Given the description of an element on the screen output the (x, y) to click on. 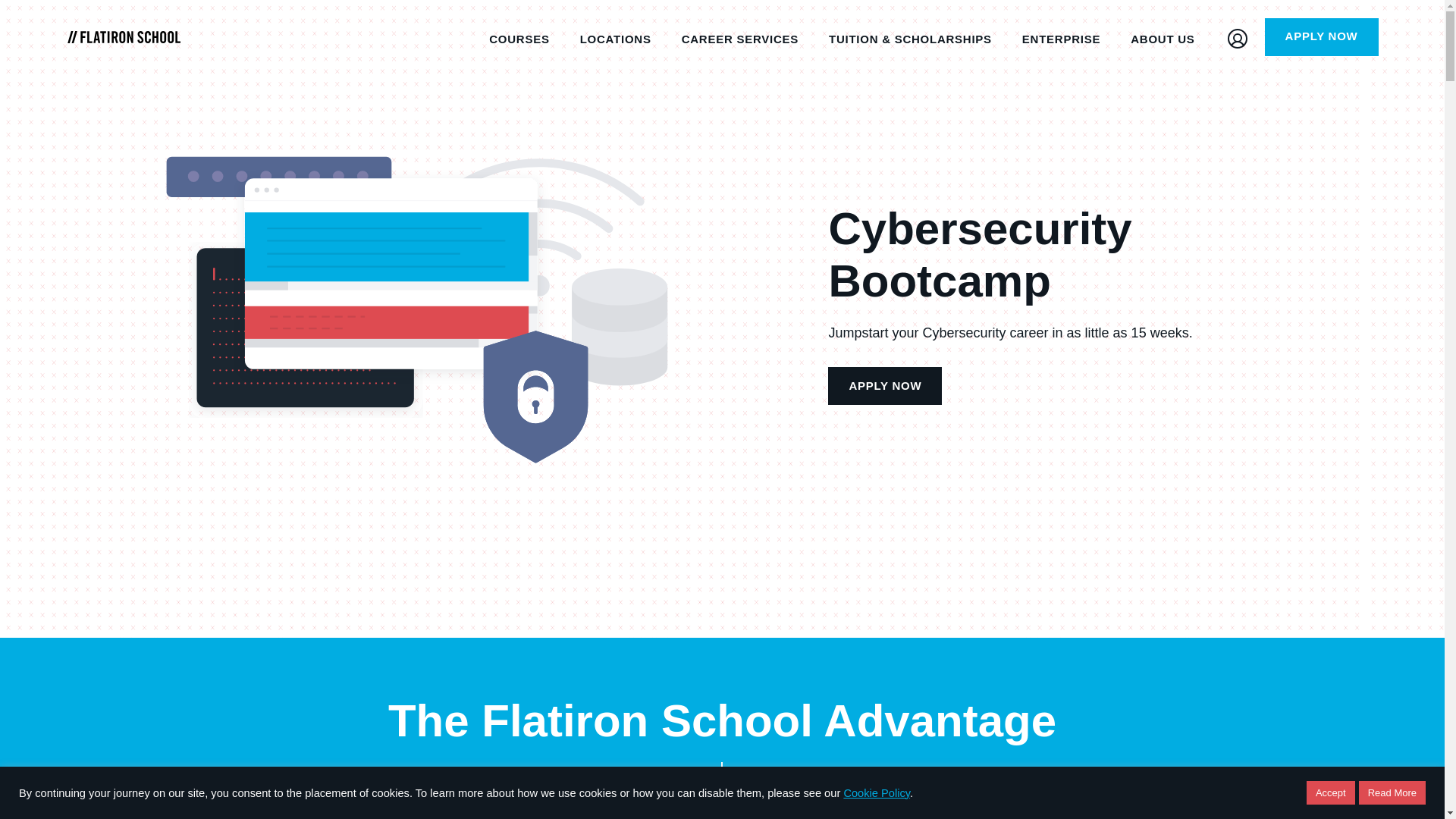
COURSES (519, 36)
LOCATIONS (615, 36)
CAREER SERVICES (739, 36)
